Given the description of an element on the screen output the (x, y) to click on. 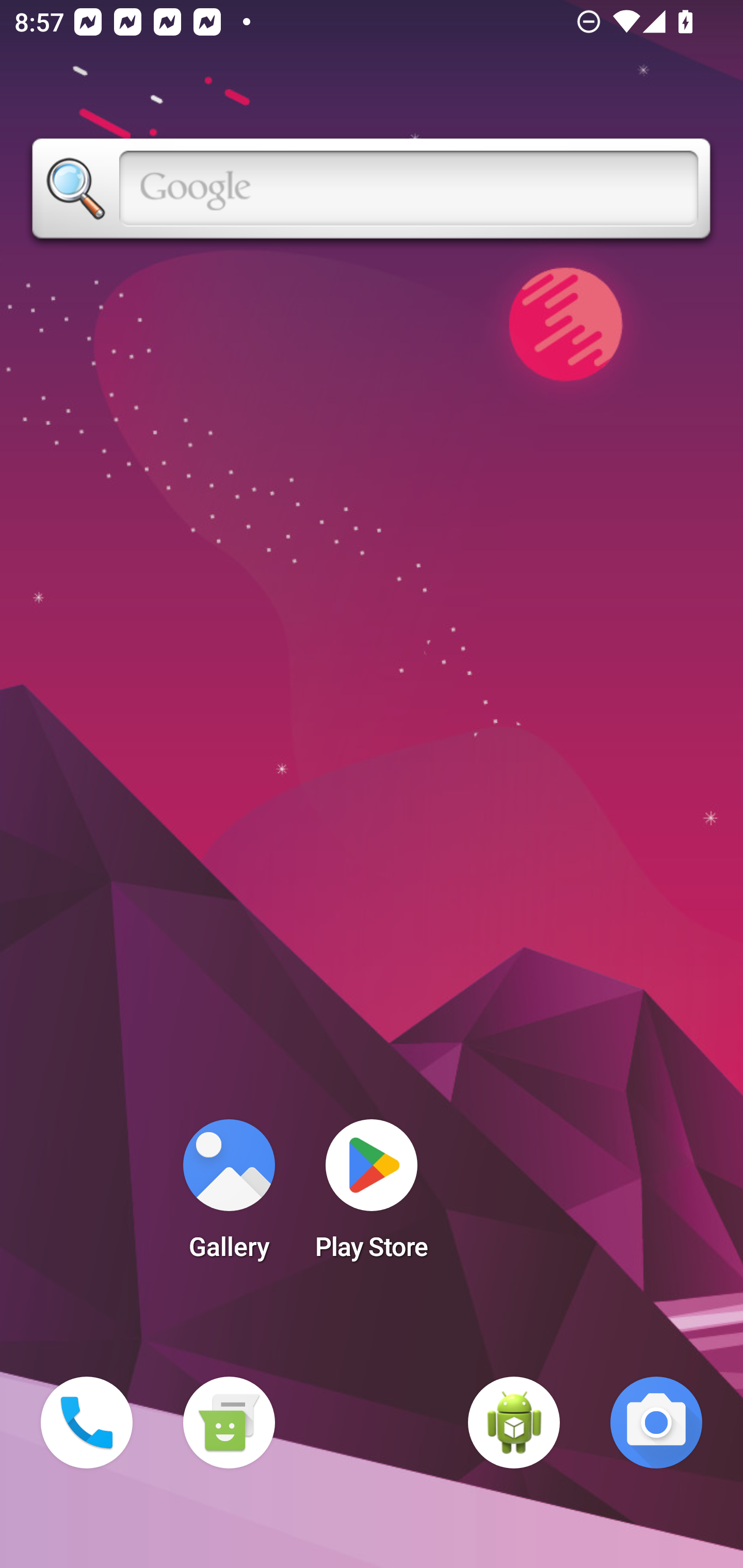
Gallery (228, 1195)
Play Store (371, 1195)
Phone (86, 1422)
Messaging (228, 1422)
WebView Browser Tester (513, 1422)
Camera (656, 1422)
